Given the description of an element on the screen output the (x, y) to click on. 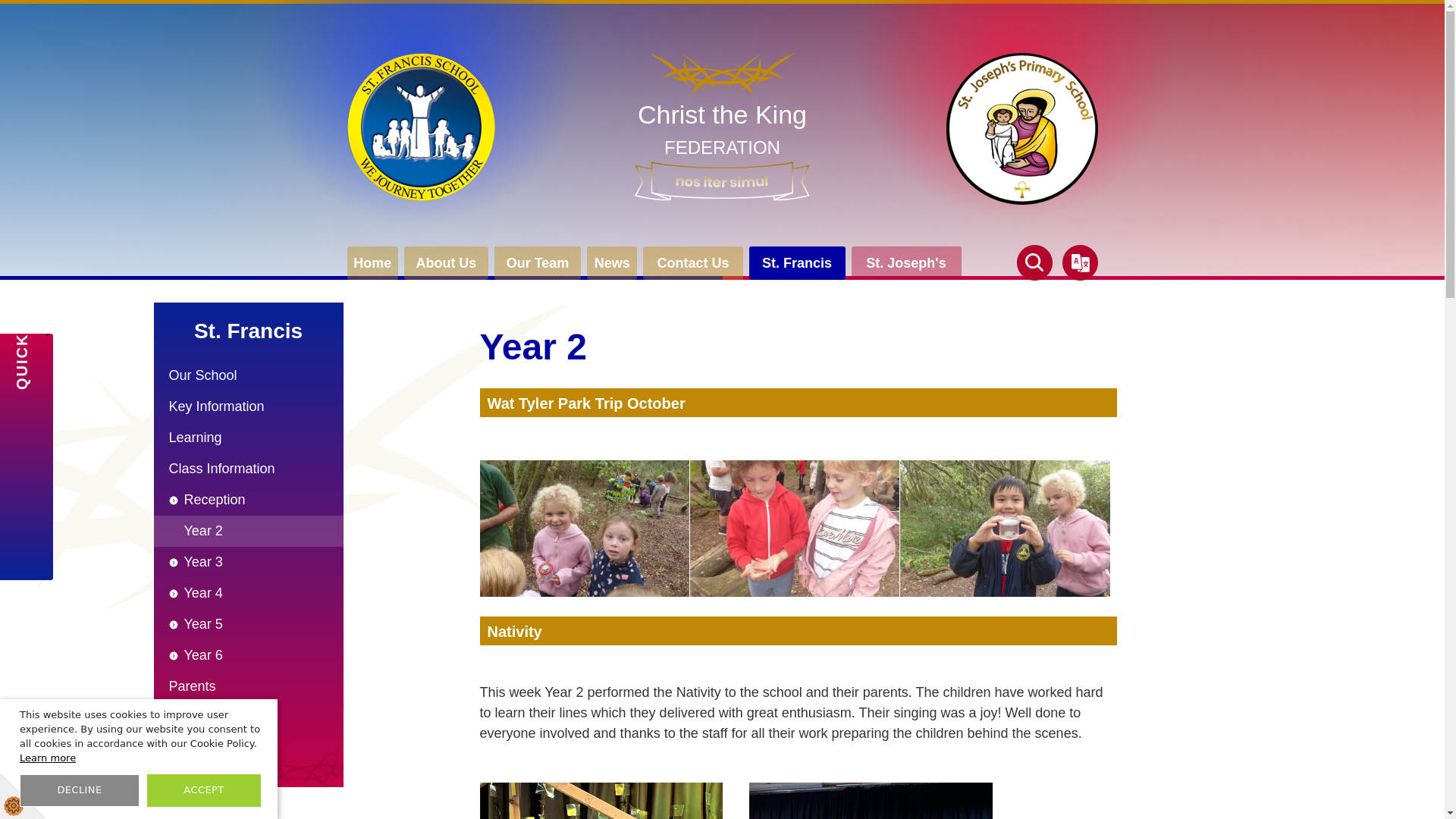
About Us (721, 126)
Contact Us (445, 263)
St. Francis (692, 263)
Home (797, 263)
News (372, 263)
Our Team (611, 263)
